Given the description of an element on the screen output the (x, y) to click on. 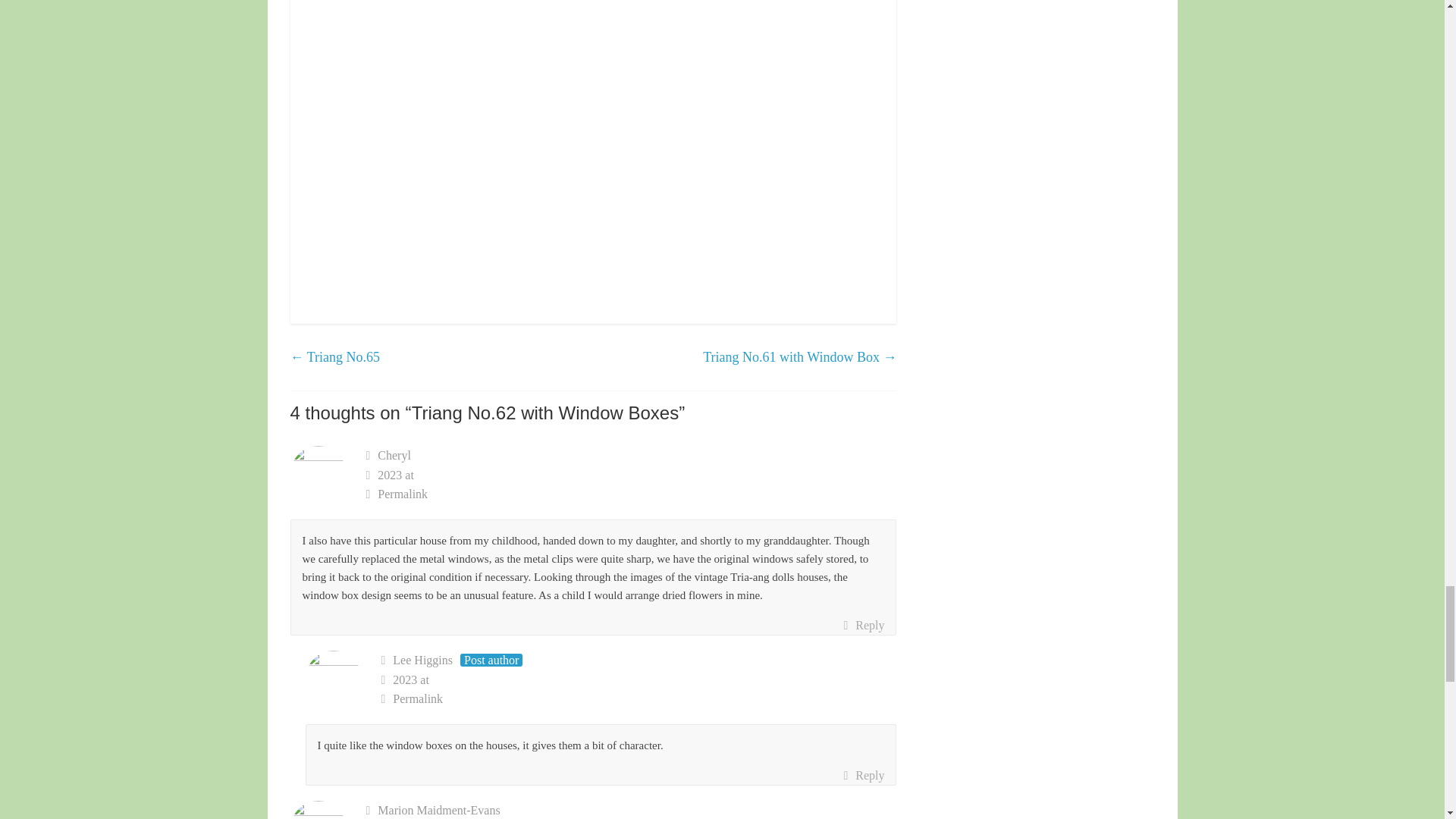
Reply (863, 625)
Reply (863, 775)
Permalink (630, 494)
Lee Higgins (422, 659)
Permalink (638, 699)
